Given the description of an element on the screen output the (x, y) to click on. 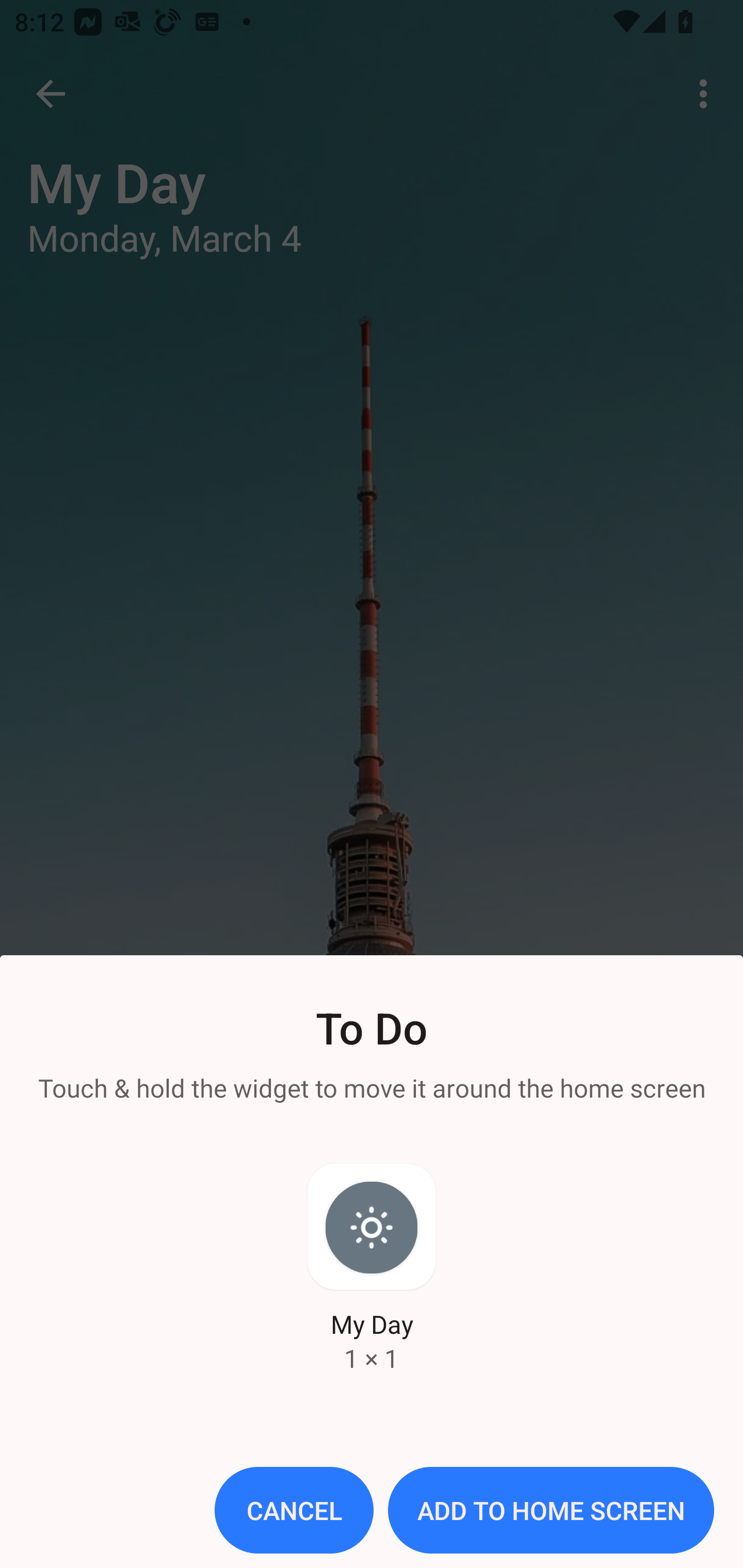
CANCEL (293, 1510)
ADD TO HOME SCREEN (550, 1510)
